Given the description of an element on the screen output the (x, y) to click on. 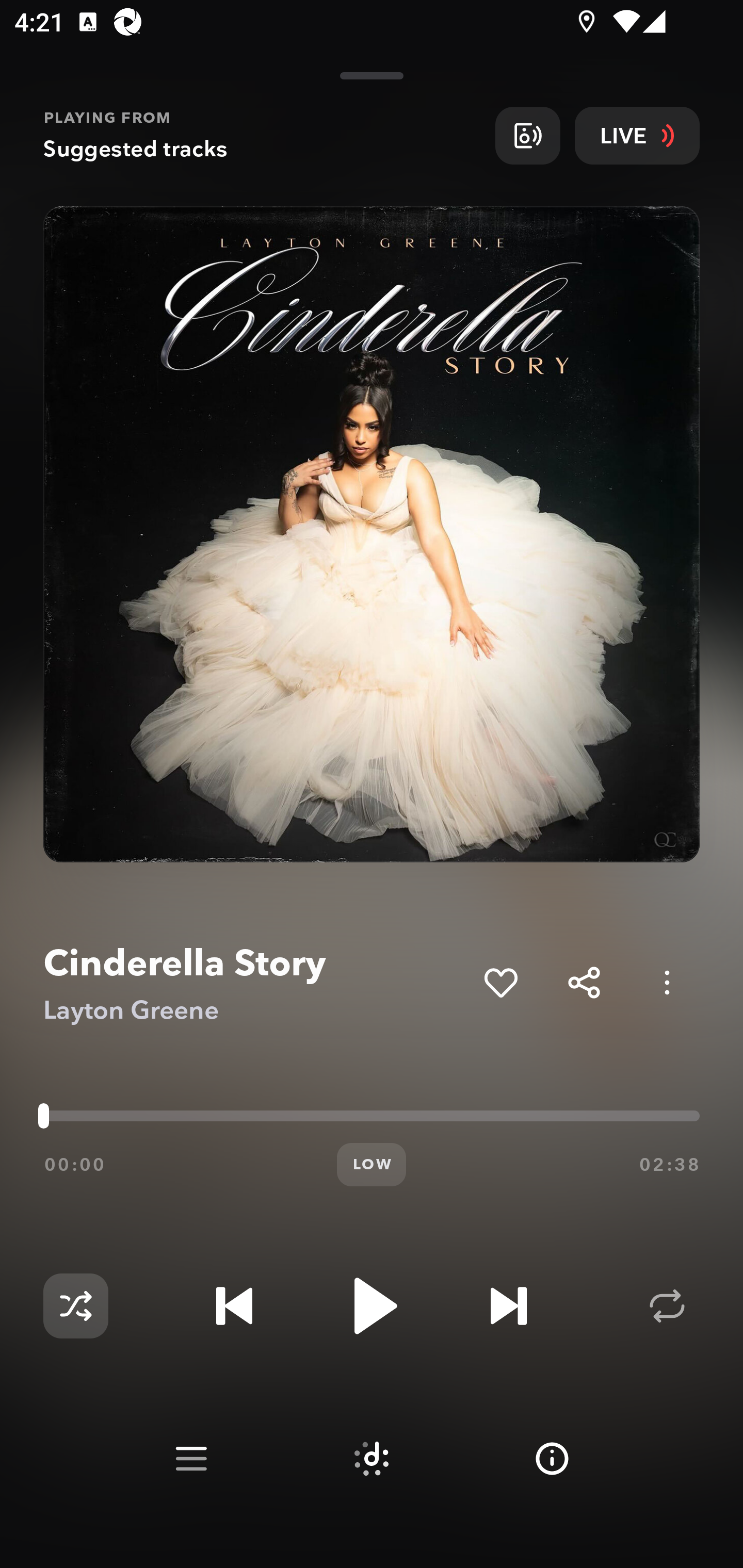
Broadcast (527, 135)
LIVE (637, 135)
PLAYING FROM Suggested tracks (261, 135)
Cinderella Story Layton Greene (255, 983)
Add to My Collection (500, 982)
Share (583, 982)
Options (666, 982)
LOW (371, 1164)
Play (371, 1306)
Previous (234, 1306)
Next (508, 1306)
Shuffle enabled (75, 1306)
Repeat Off (666, 1306)
Play queue (191, 1458)
Suggested tracks (371, 1458)
Info (551, 1458)
